Given the description of an element on the screen output the (x, y) to click on. 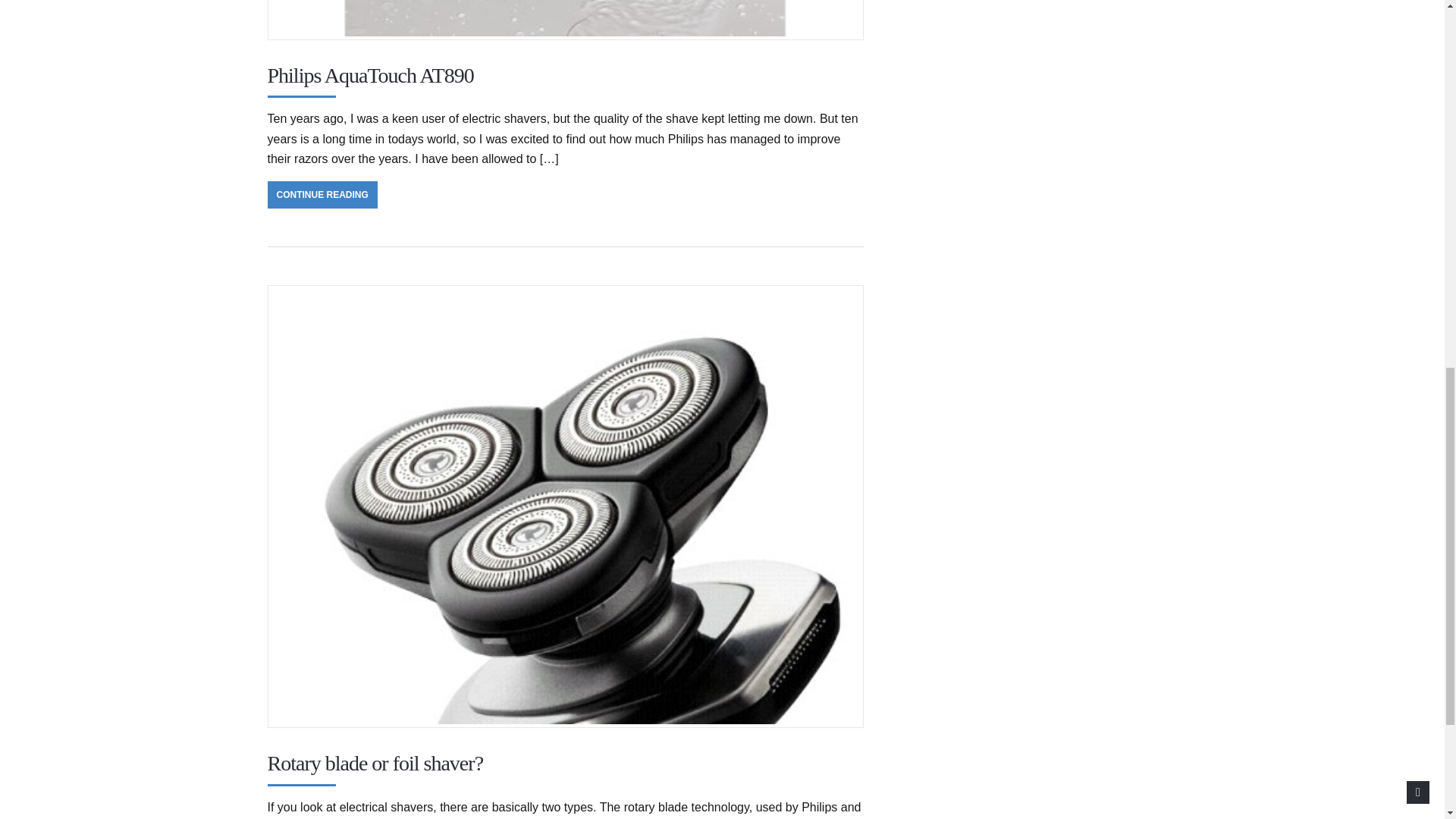
CONTINUE READING (321, 194)
Rotary blade or foil shaver? (374, 762)
Philips AquaTouch AT890 (369, 74)
